Given the description of an element on the screen output the (x, y) to click on. 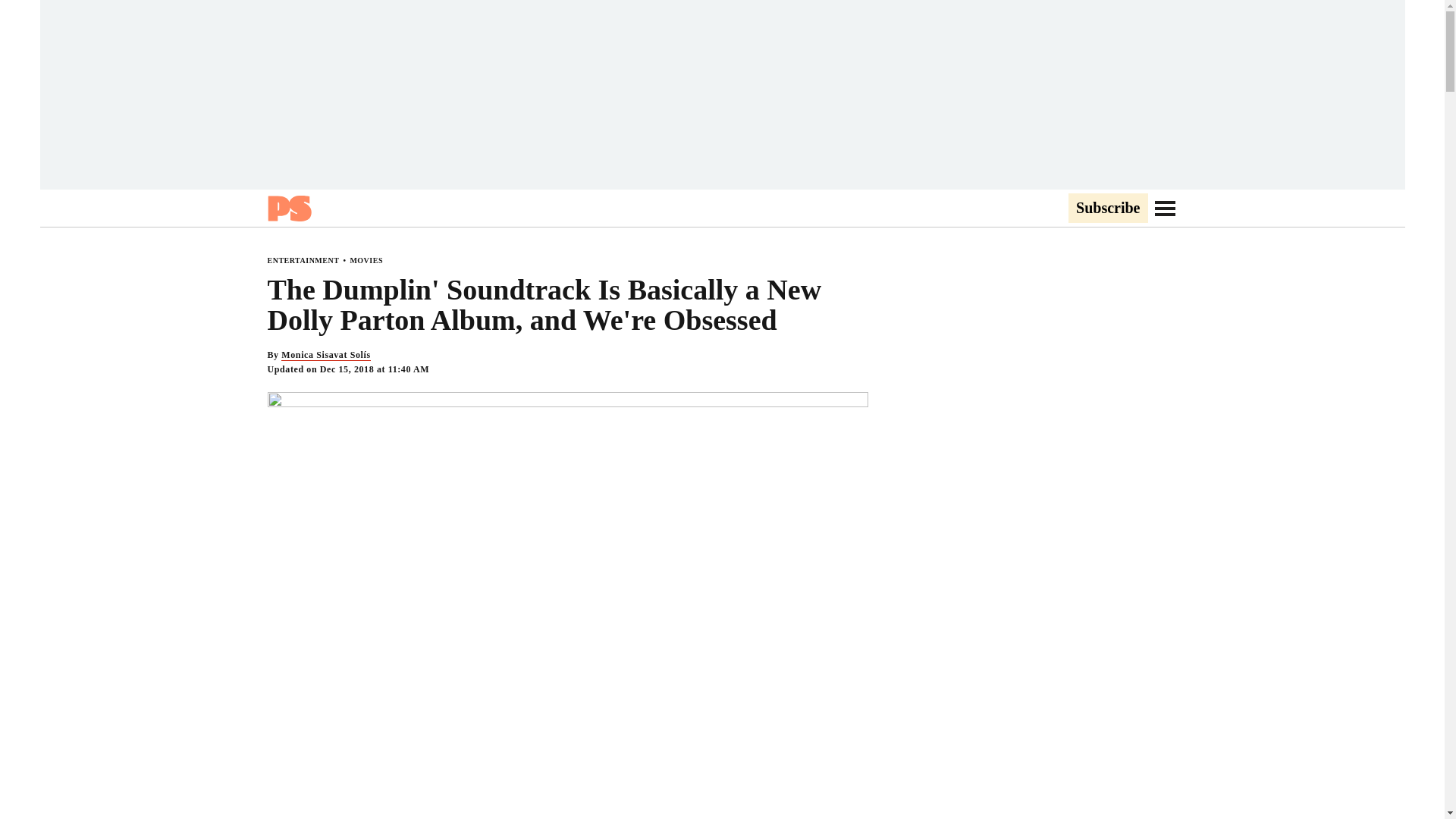
MOVIES (365, 260)
Go to Navigation (1164, 207)
Go to Navigation (1164, 207)
Popsugar (288, 208)
ENTERTAINMENT (302, 260)
Subscribe (1107, 208)
